Given the description of an element on the screen output the (x, y) to click on. 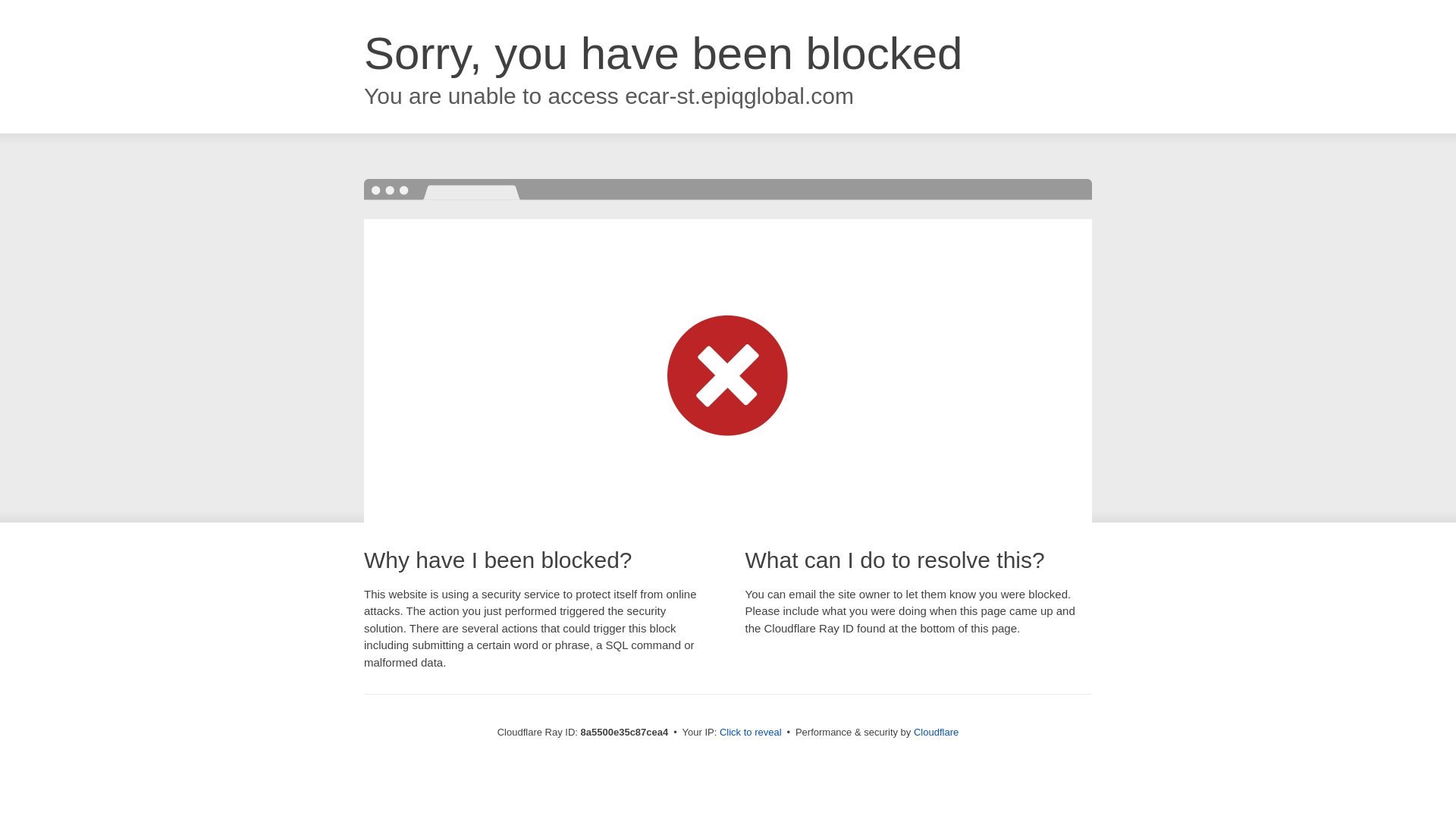
Cloudflare (936, 731)
Click to reveal (750, 732)
